Given the description of an element on the screen output the (x, y) to click on. 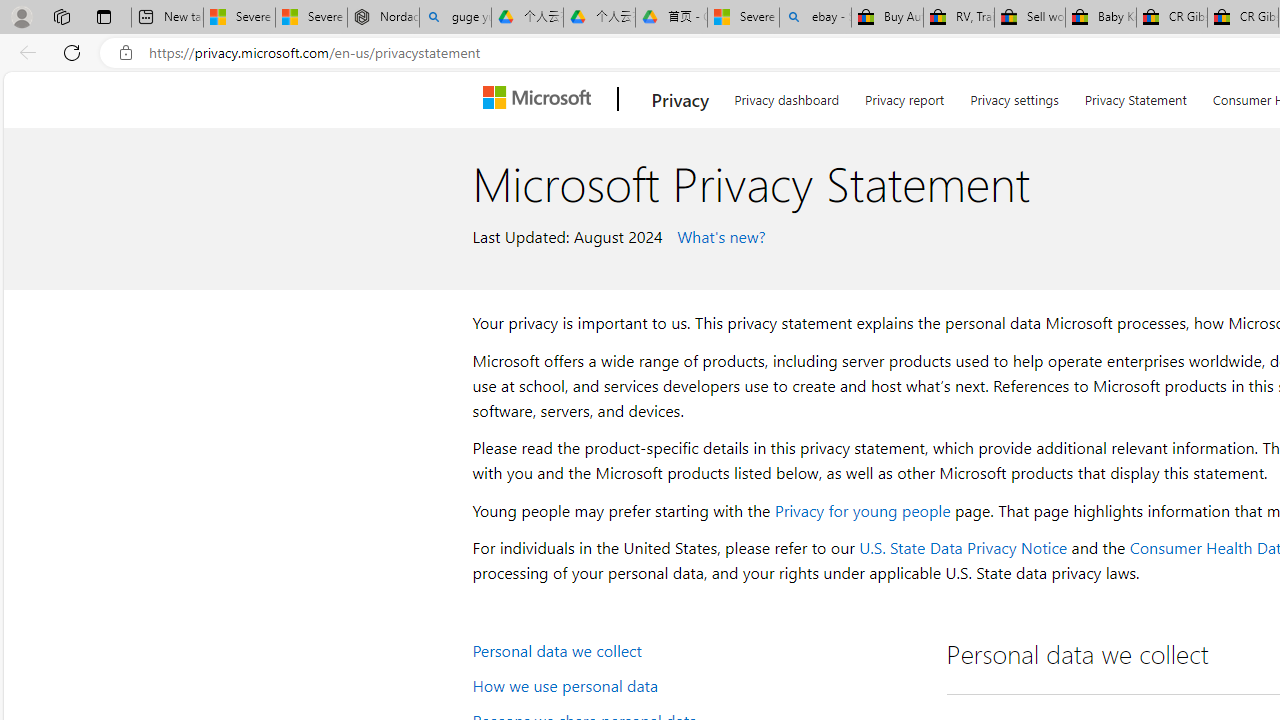
Refresh (72, 52)
New tab (167, 17)
RV, Trailer & Camper Steps & Ladders for sale | eBay (959, 17)
